Given the description of an element on the screen output the (x, y) to click on. 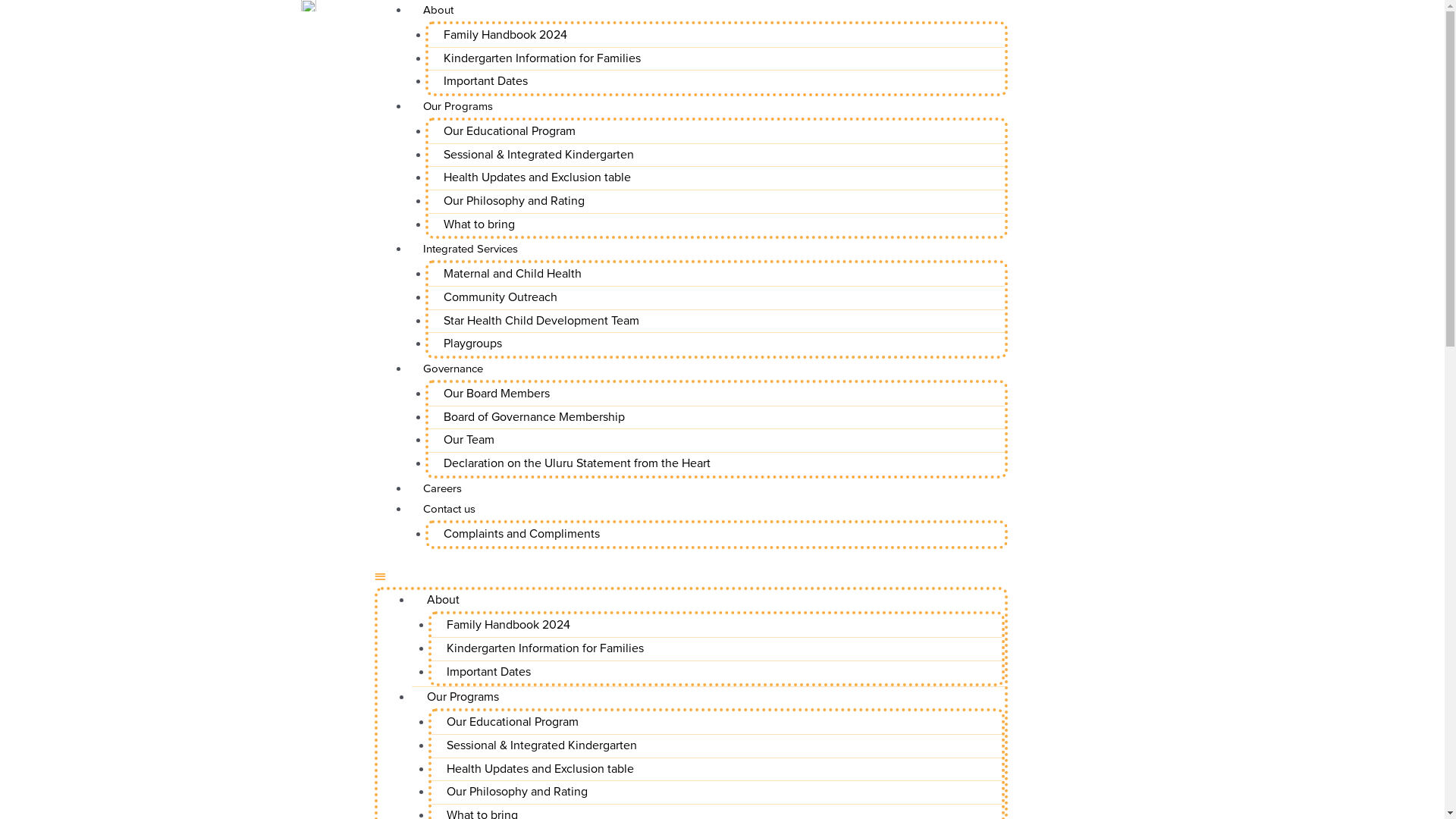
Our Educational Program Element type: text (509, 130)
Board of Governance Membership Element type: text (534, 416)
Sessional & Integrated Kindergarten Element type: text (538, 154)
Kindergarten Information for Families Element type: text (541, 58)
Our Programs Element type: text (462, 696)
Maternal and Child Health Element type: text (512, 273)
Governance Element type: text (452, 368)
Important Dates Element type: text (488, 671)
Family Handbook 2024 Element type: text (508, 624)
Careers Element type: text (442, 488)
Our Educational Program Element type: text (512, 721)
Declaration on the Uluru Statement from the Heart Element type: text (576, 463)
What to bring Element type: text (479, 224)
Health Updates and Exclusion table Element type: text (540, 768)
Sessional & Integrated Kindergarten Element type: text (541, 745)
Integrated Services Element type: text (470, 248)
Our Programs Element type: text (457, 106)
Our Philosophy and Rating Element type: text (516, 791)
Our Board Members Element type: text (496, 393)
Contact us Element type: text (448, 508)
Playgroups Element type: text (472, 343)
Star Health Child Development Team Element type: text (541, 320)
Community Outreach Element type: text (500, 297)
Important Dates Element type: text (485, 80)
Our Team Element type: text (468, 439)
Complaints and Compliments Element type: text (521, 533)
Family Handbook 2024 Element type: text (505, 34)
Our Philosophy and Rating Element type: text (513, 200)
Health Updates and Exclusion table Element type: text (537, 177)
About Element type: text (442, 599)
Kindergarten Information for Families Element type: text (544, 648)
